Given the description of an element on the screen output the (x, y) to click on. 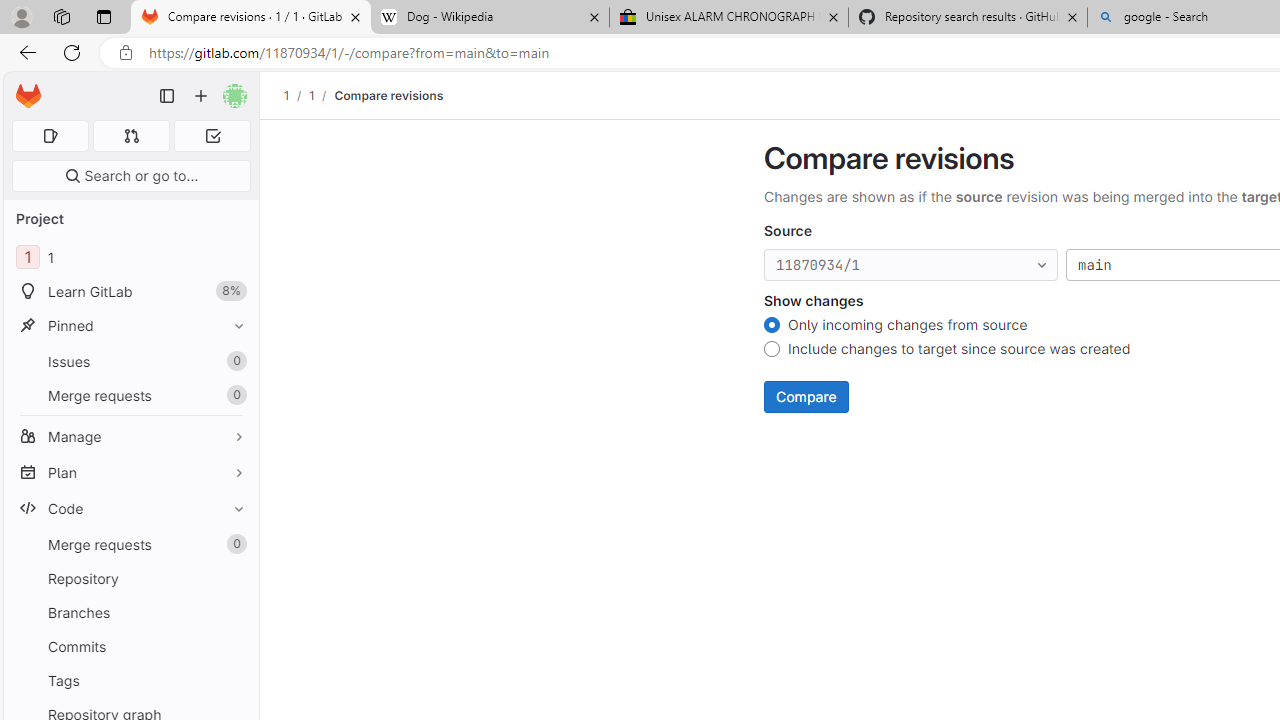
Code (130, 507)
1 (311, 95)
Dog - Wikipedia (490, 17)
Learn GitLab8% (130, 291)
Merge requests0 (130, 543)
Unpin Issues (234, 361)
Merge requests 0 (130, 543)
Plan (130, 471)
Pin Commits (234, 646)
1/ (321, 95)
Assigned issues 0 (50, 136)
Tags (130, 679)
Plan (130, 471)
Pin Tags (234, 680)
